Given the description of an element on the screen output the (x, y) to click on. 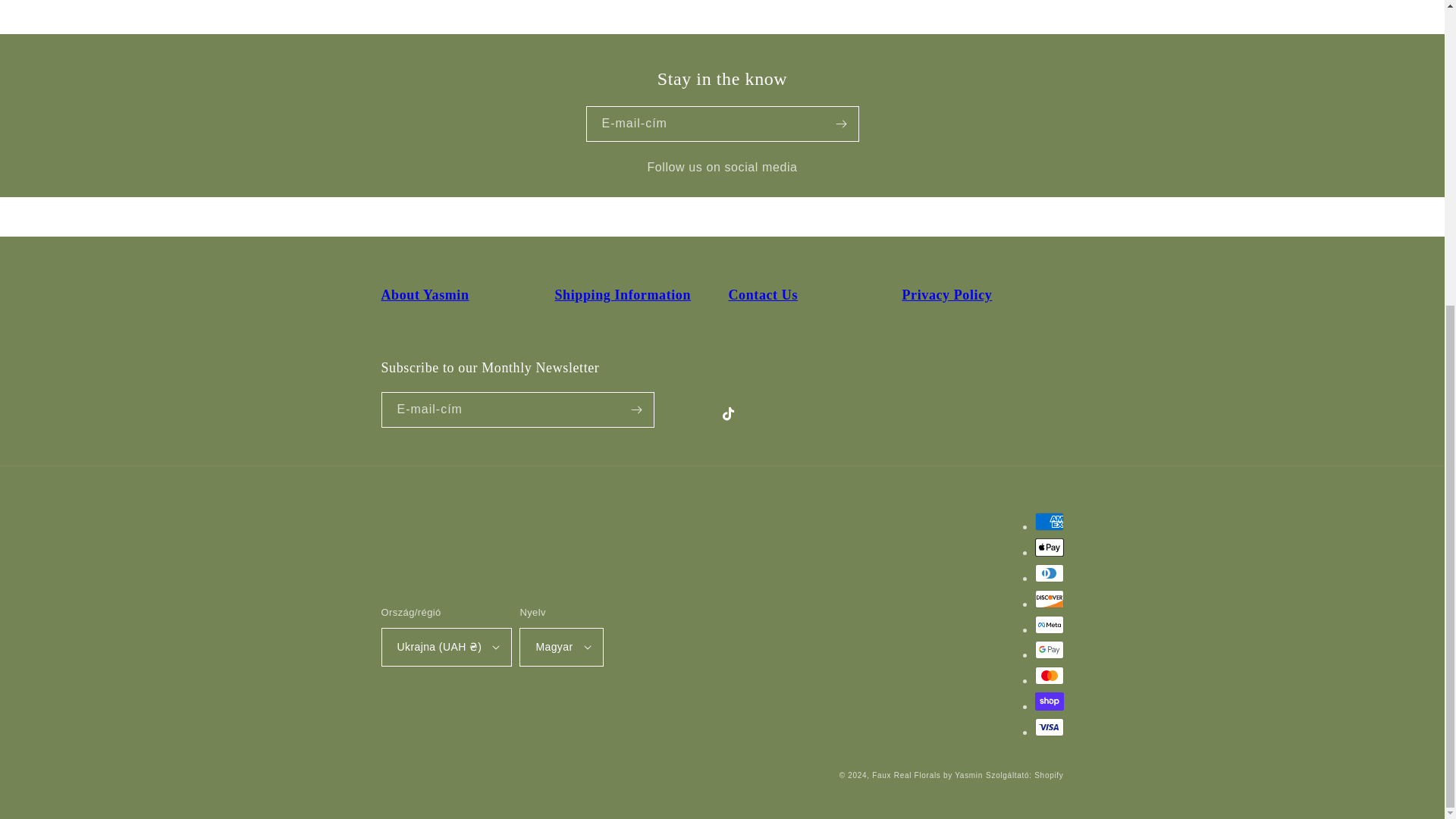
Mastercard (1047, 675)
American Express (1047, 521)
Diners Club (1047, 573)
Google Pay (1047, 649)
Visa (1047, 727)
Discover (1047, 598)
Apple Pay (1047, 547)
Meta Pay (1047, 624)
Shop Pay (1047, 701)
